Given the description of an element on the screen output the (x, y) to click on. 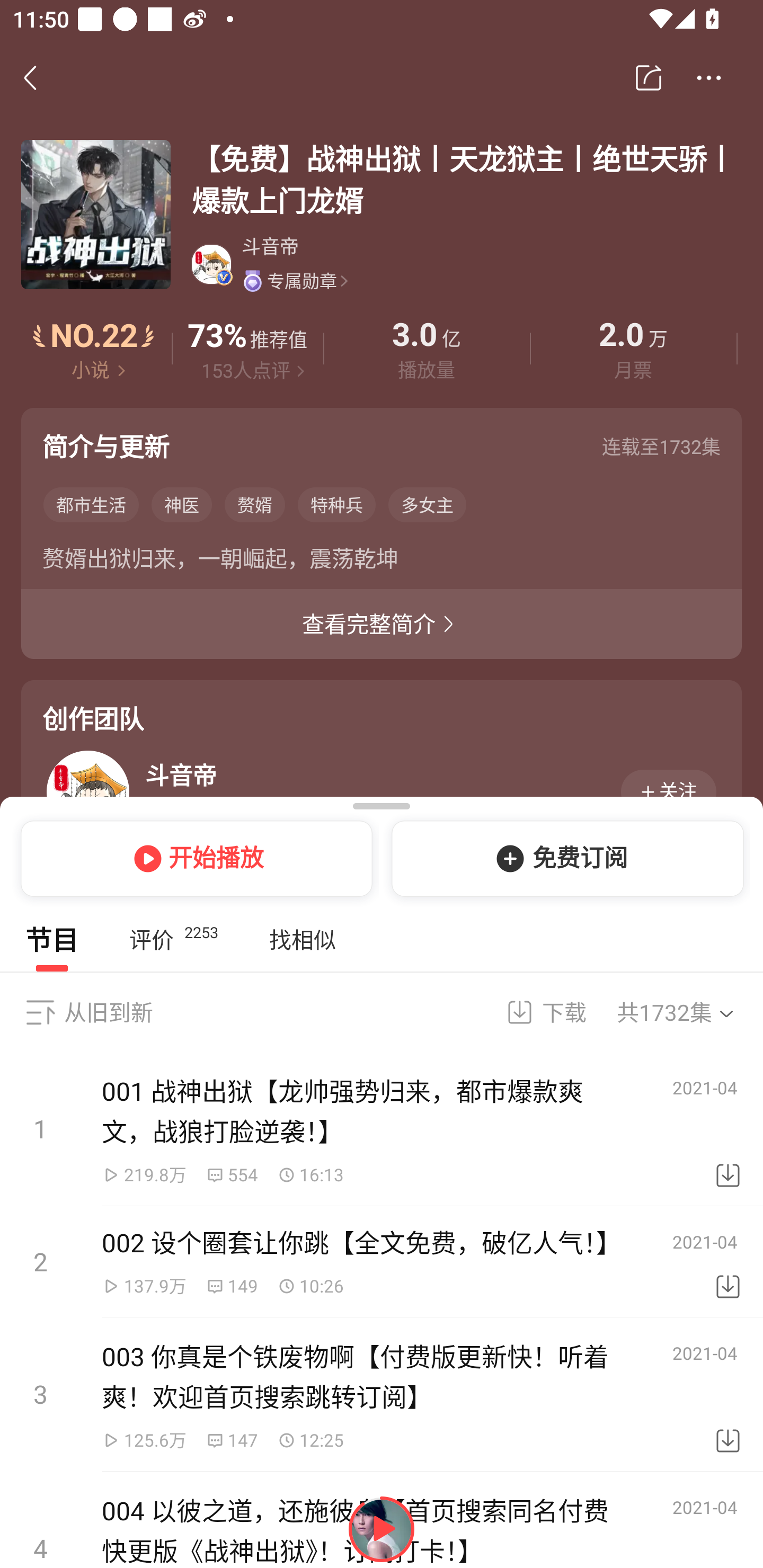
返回 (40, 77)
分享 (648, 78)
更多 (709, 78)
【免费】战神出狱丨天龙狱主丨绝世天骄丨爆款上门龙婿 (466, 178)
斗音帝 专属勋章 (465, 263)
专属勋章 (294, 280)
排行榜 (93, 348)
评价 (247, 348)
都市生活 (90, 504)
神医 (181, 504)
赘婿 (254, 504)
特种兵 (336, 504)
多女主 (427, 504)
赘婿出狱归来，一朝崛起，震荡乾坤 (381, 561)
查看完整简介 (381, 623)
斗音帝 主播  勋章 关注 (385, 791)
关注 (668, 791)
开始播放 (193, 858)
免费订阅 (564, 858)
节目 (51, 939)
评价  2253 (173, 939)
找相似 (302, 939)
排序，从旧到新 (40, 1012)
从旧到新 (108, 1012)
下载 (534, 1012)
共1732集 选集，共1732集 (687, 1012)
下载 (728, 1129)
下载 (728, 1261)
下载 (728, 1394)
继续播放Alpha-橘子海OrangeOcean (381, 1529)
